Given the description of an element on the screen output the (x, y) to click on. 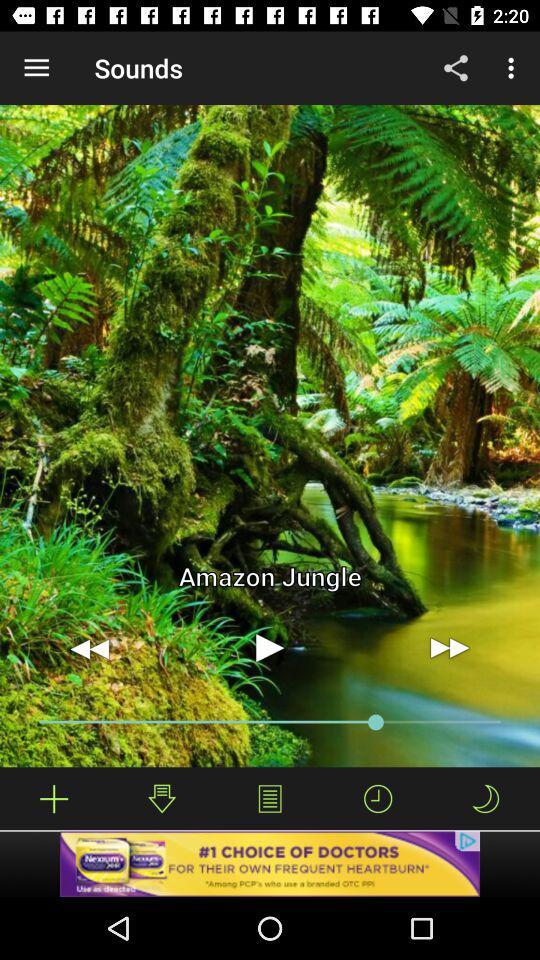
go to previous (90, 648)
